Given the description of an element on the screen output the (x, y) to click on. 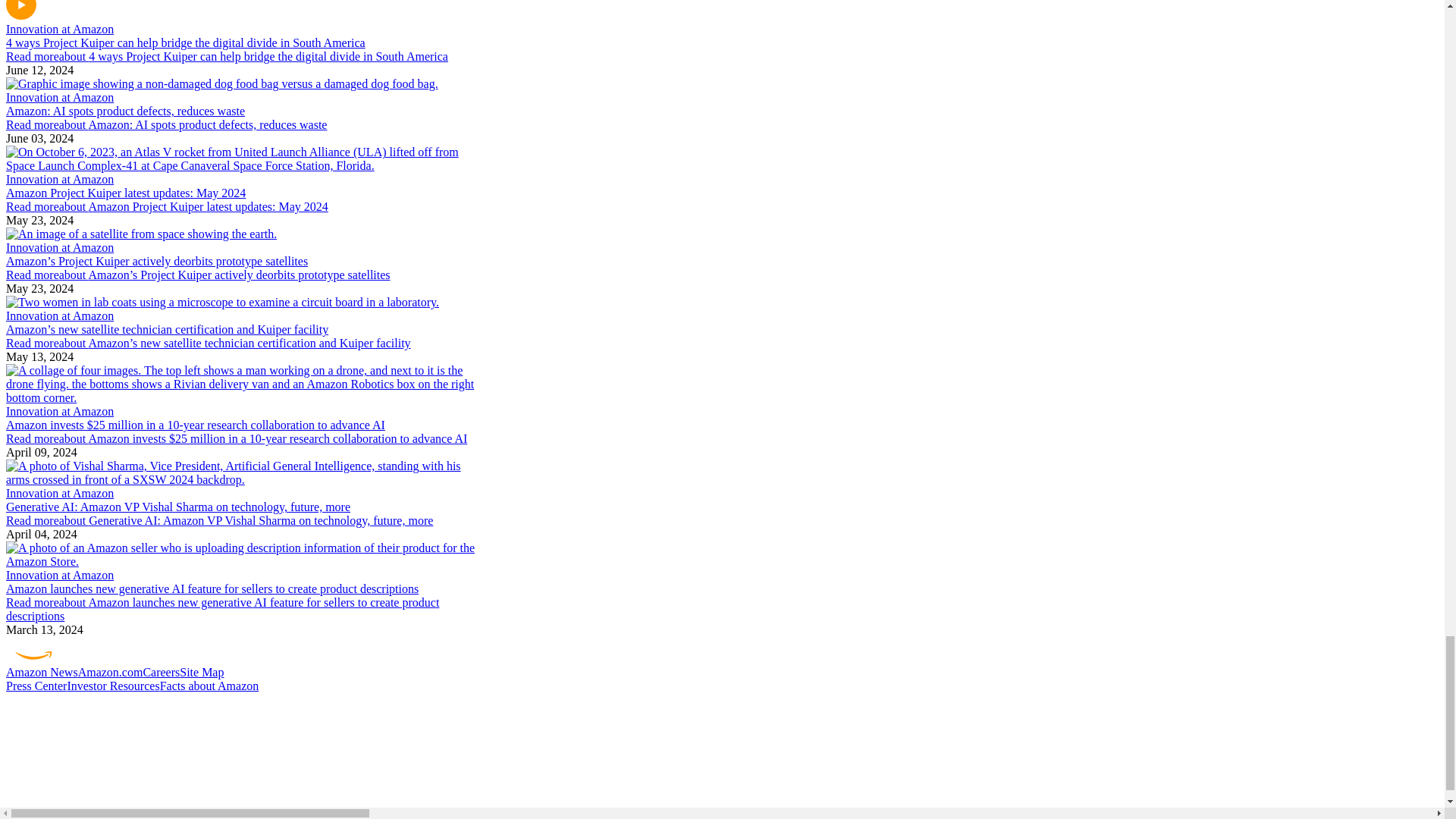
YouTube (721, 788)
LinkedIn Share (721, 767)
Facebook Share (721, 703)
Twitter Share (721, 745)
Instagram (721, 724)
About Amazon Home (721, 651)
